Given the description of an element on the screen output the (x, y) to click on. 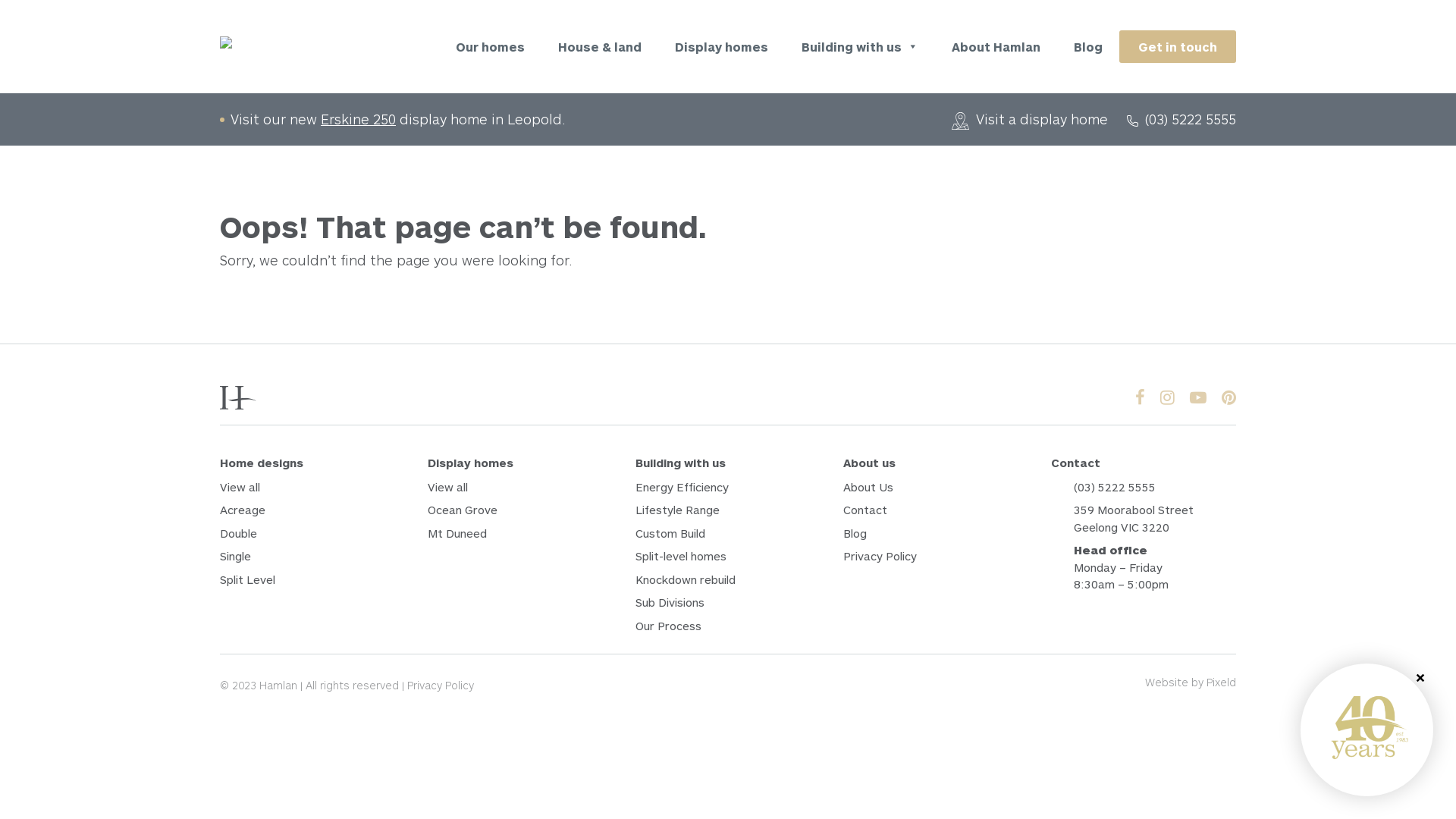
Knockdown rebuild Element type: text (727, 579)
View all Element type: text (311, 486)
Display homes Element type: text (721, 46)
Contact Element type: text (935, 509)
Pixeld Element type: text (1221, 681)
Building with us Element type: text (859, 46)
About Hamlan Element type: text (996, 46)
Split-level homes Element type: text (727, 555)
Energy Efficiency Element type: text (727, 486)
Erskine 250 Element type: text (357, 118)
About Us Element type: text (935, 486)
Acreage Element type: text (311, 509)
Lifestyle Range Element type: text (727, 509)
Double Element type: text (311, 533)
View all Element type: text (519, 486)
House & land Element type: text (599, 46)
Privacy Policy Element type: text (935, 555)
Get in touch Element type: text (1177, 46)
359 Moorabool Street
Geelong VIC 3220 Element type: text (1154, 518)
(03) 5222 5555 Element type: text (1181, 118)
Our Process Element type: text (727, 625)
Privacy Policy Element type: text (440, 685)
Blog Element type: text (935, 533)
Split Level Element type: text (311, 579)
(03) 5222 5555 Element type: text (1154, 486)
Ocean Grove Element type: text (519, 509)
Sub Divisions Element type: text (727, 602)
Single Element type: text (311, 555)
Custom Build Element type: text (727, 533)
Mt Duneed Element type: text (519, 533)
Our homes Element type: text (490, 46)
Visit a display home Element type: text (1029, 118)
Blog Element type: text (1088, 46)
